Given the description of an element on the screen output the (x, y) to click on. 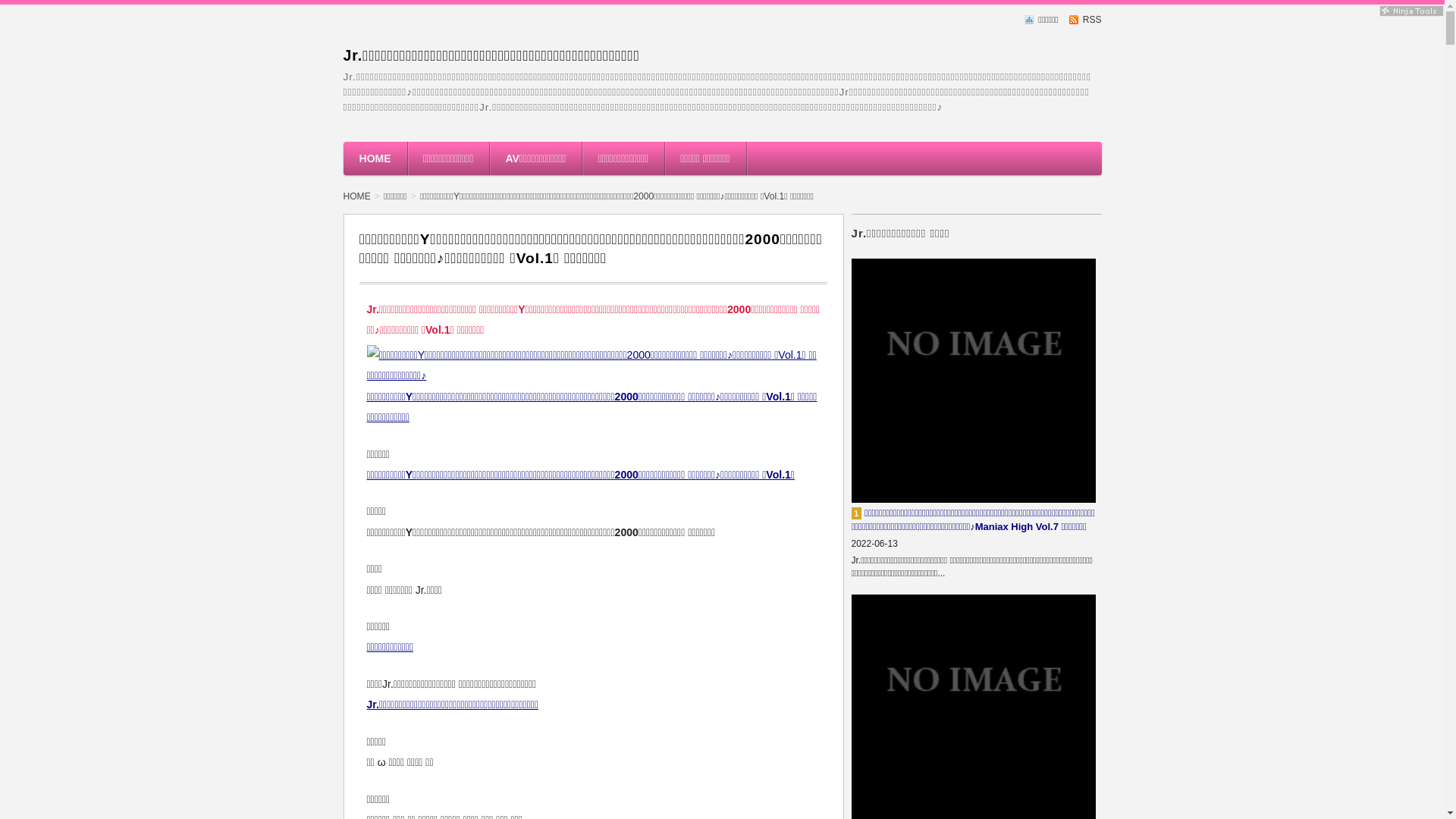
HOME Element type: text (360, 196)
RSS Element type: text (1085, 19)
HOME Element type: text (374, 158)
